Given the description of an element on the screen output the (x, y) to click on. 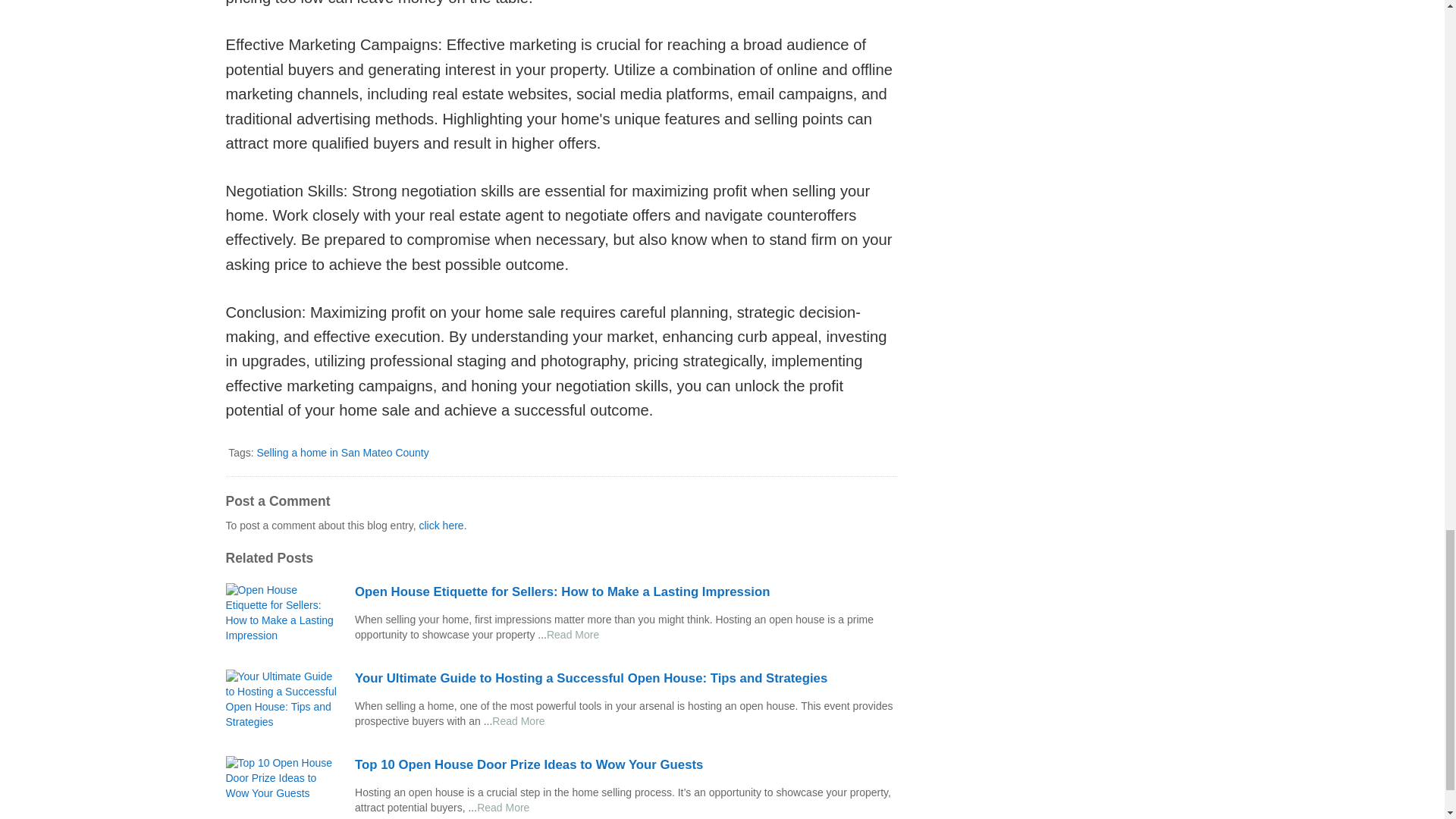
Top 10 Open House Door Prize Ideas to Wow Your Guests (625, 764)
